Given the description of an element on the screen output the (x, y) to click on. 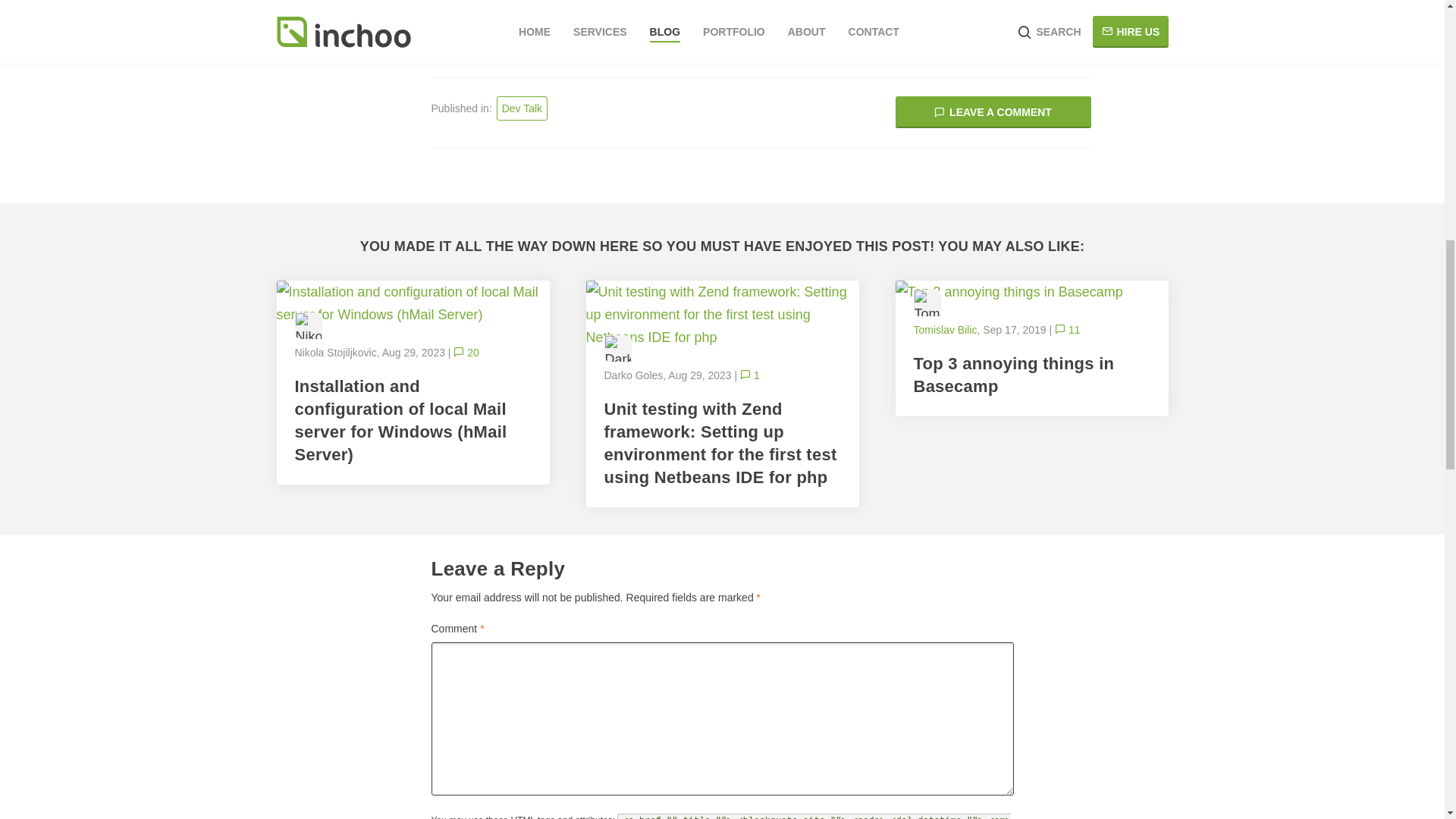
Leave a comment (992, 111)
LEAVE A COMMENT (992, 111)
Dev Talk (521, 108)
